Given the description of an element on the screen output the (x, y) to click on. 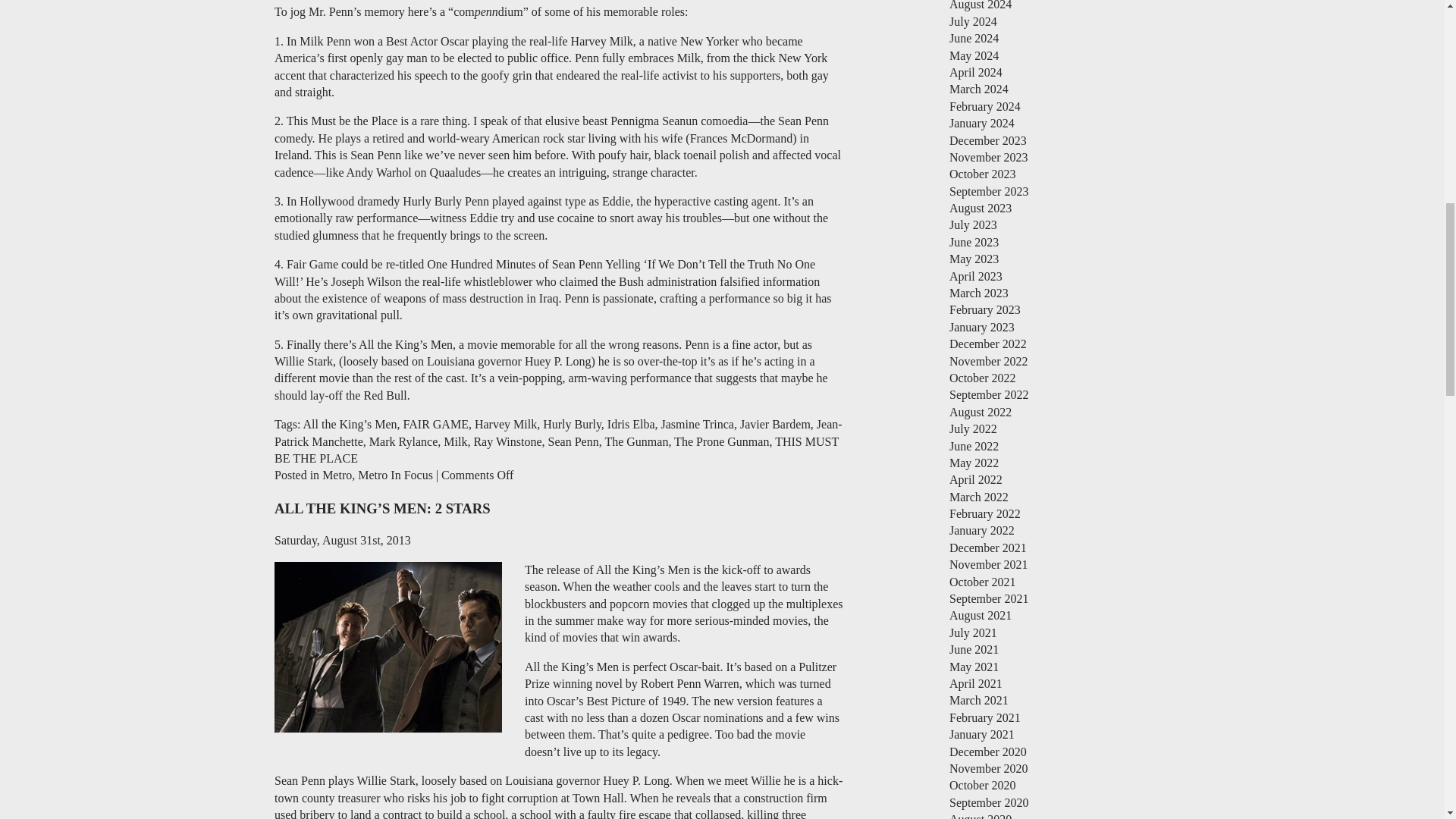
FAIR GAME (435, 423)
Jean-Patrick Manchette (559, 432)
Metro (336, 474)
THIS MUST BE THE PLACE (556, 449)
Ray Winstone (507, 440)
Jasmine Trinca (697, 423)
The Gunman (636, 440)
Harvey Milk (505, 423)
Sean Penn (573, 440)
Javier Bardem (774, 423)
